Given the description of an element on the screen output the (x, y) to click on. 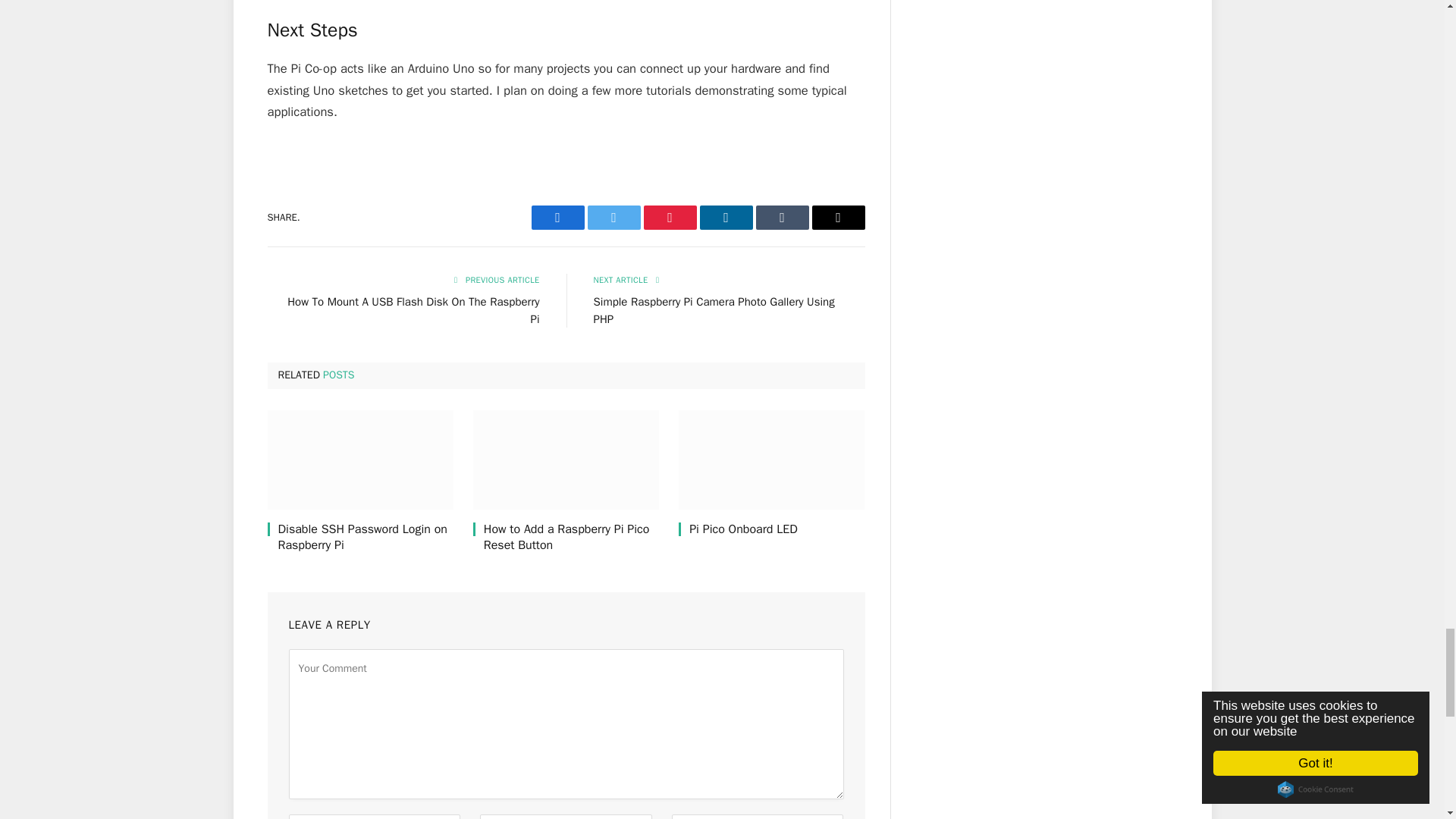
Share on Facebook (557, 217)
